Given the description of an element on the screen output the (x, y) to click on. 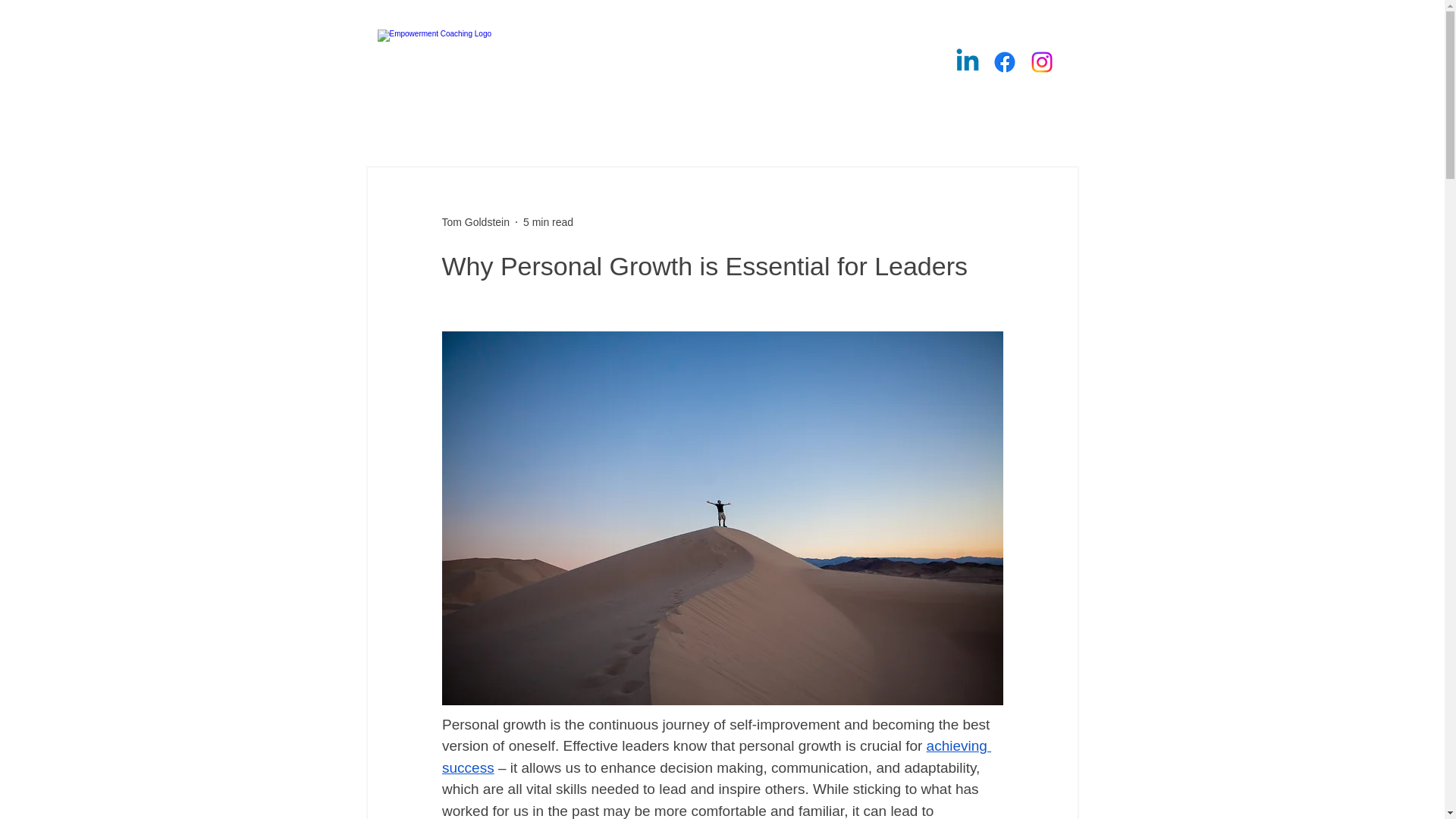
5 min read (547, 221)
Contact (951, 124)
About (1035, 124)
Testimonials (780, 124)
achieving success (715, 756)
Tom Goldstein (474, 221)
Home (407, 124)
Blog (871, 124)
